Given the description of an element on the screen output the (x, y) to click on. 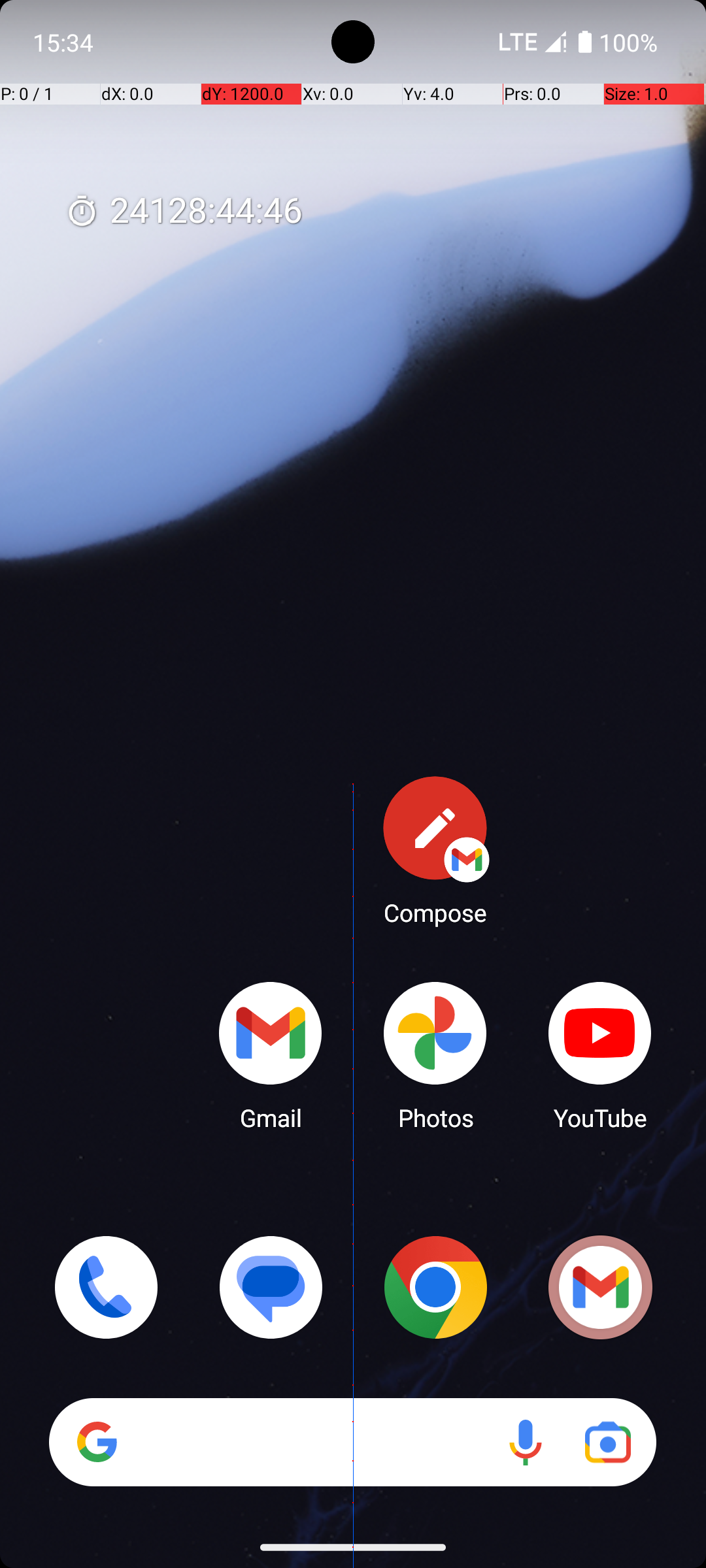
24128:44:46 Element type: android.widget.TextView (183, 210)
Compose Element type: android.widget.TextView (435, 849)
